Given the description of an element on the screen output the (x, y) to click on. 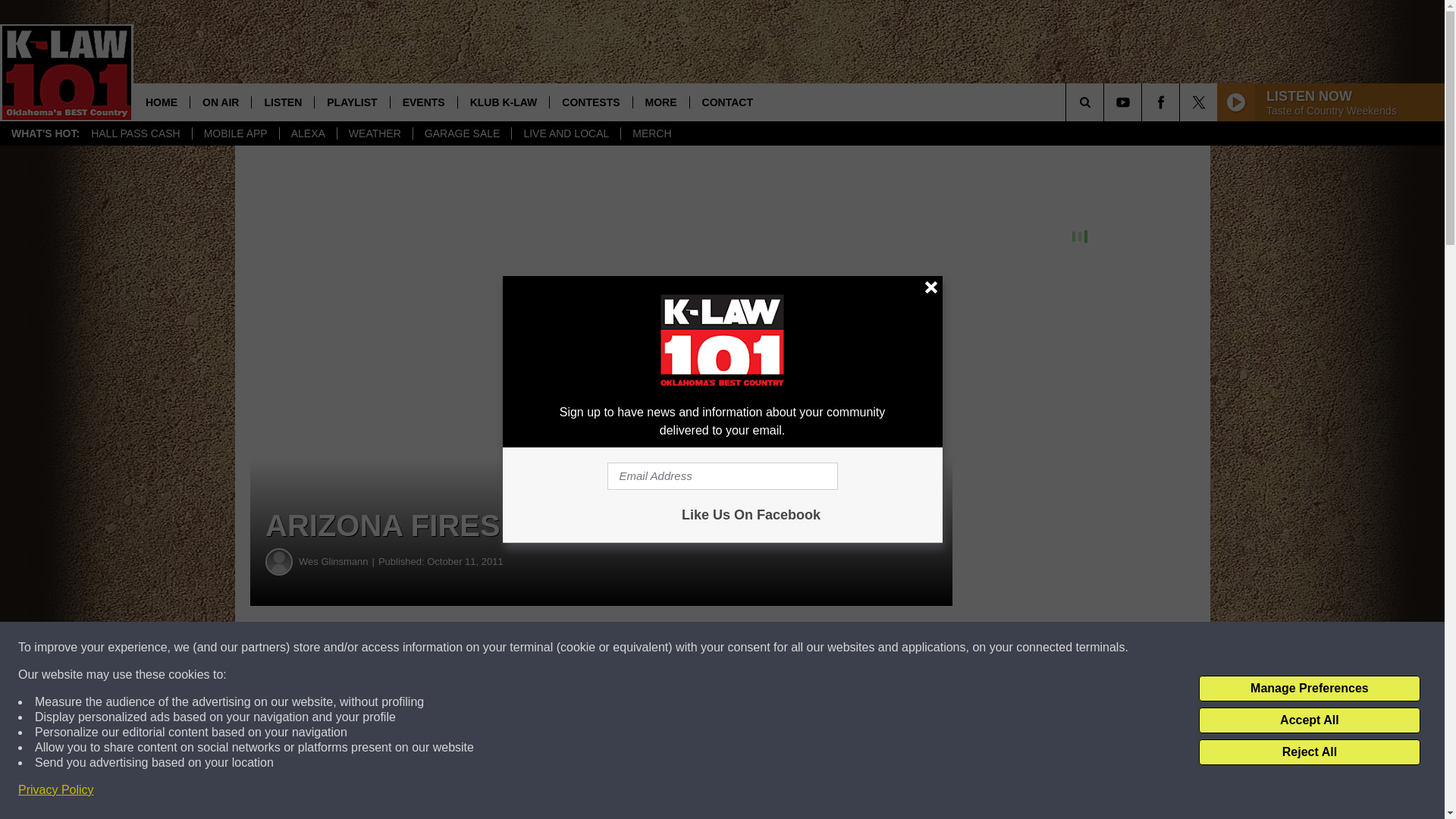
GARAGE SALE (462, 133)
LIVE AND LOCAL (565, 133)
Manage Preferences (1309, 688)
SEARCH (1106, 102)
ON AIR (219, 102)
LISTEN (282, 102)
Share on Facebook (460, 647)
HALL PASS CASH (136, 133)
MOBILE APP (235, 133)
Privacy Policy (55, 789)
SEARCH (1106, 102)
PLAYLIST (351, 102)
Reject All (1309, 751)
MERCH (651, 133)
Accept All (1309, 720)
